Given the description of an element on the screen output the (x, y) to click on. 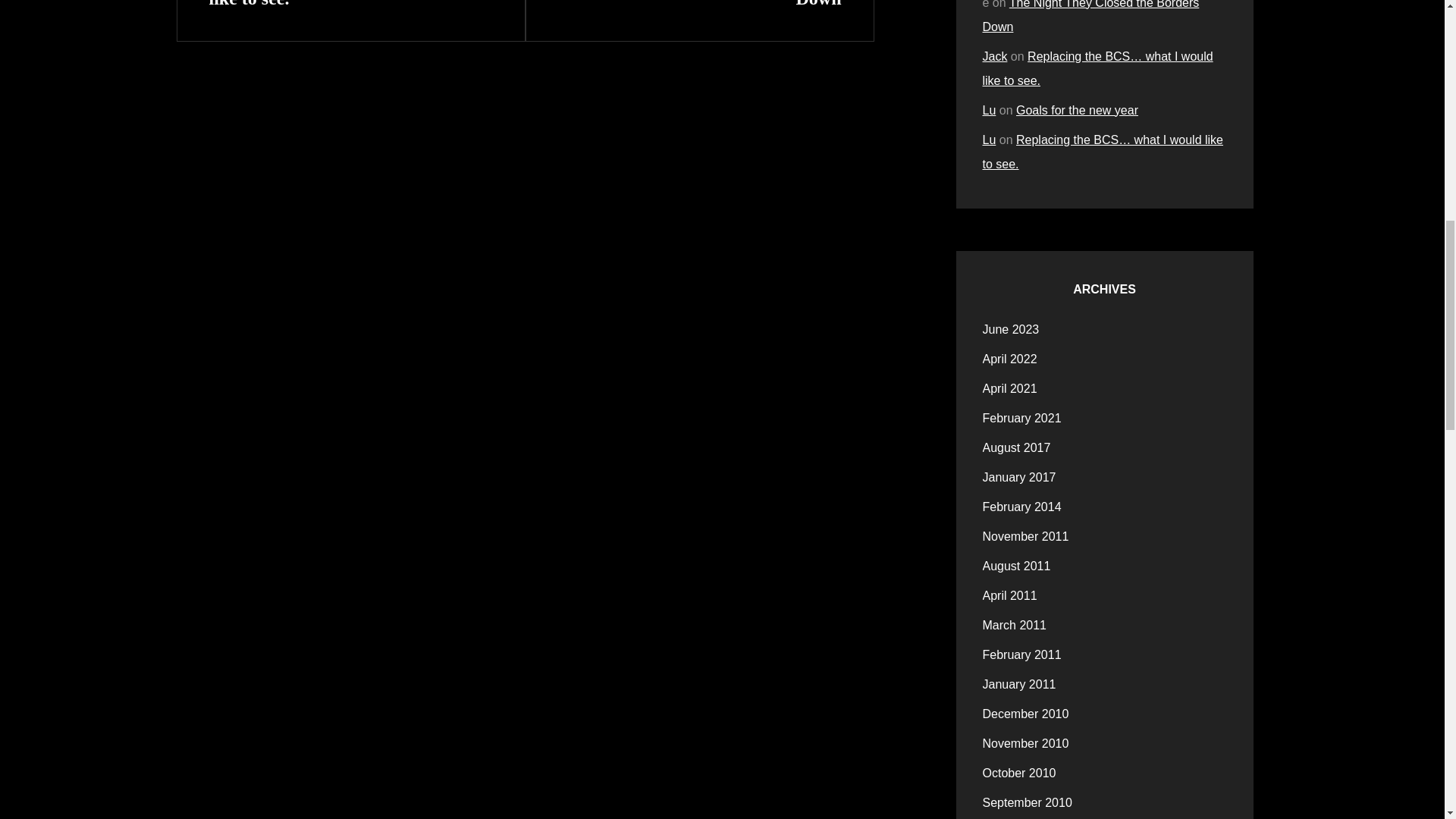
Jack (994, 56)
June 2023 (1010, 329)
November 2011 (1025, 536)
February 2014 (699, 7)
February 2011 (1021, 507)
Lu (1021, 654)
April 2022 (988, 110)
December 2010 (1009, 359)
April 2011 (1025, 713)
March 2011 (1009, 595)
The Night They Closed the Borders Down (1014, 625)
September 2010 (1090, 16)
Goals for the new year (1026, 802)
January 2017 (1077, 110)
